Given the description of an element on the screen output the (x, y) to click on. 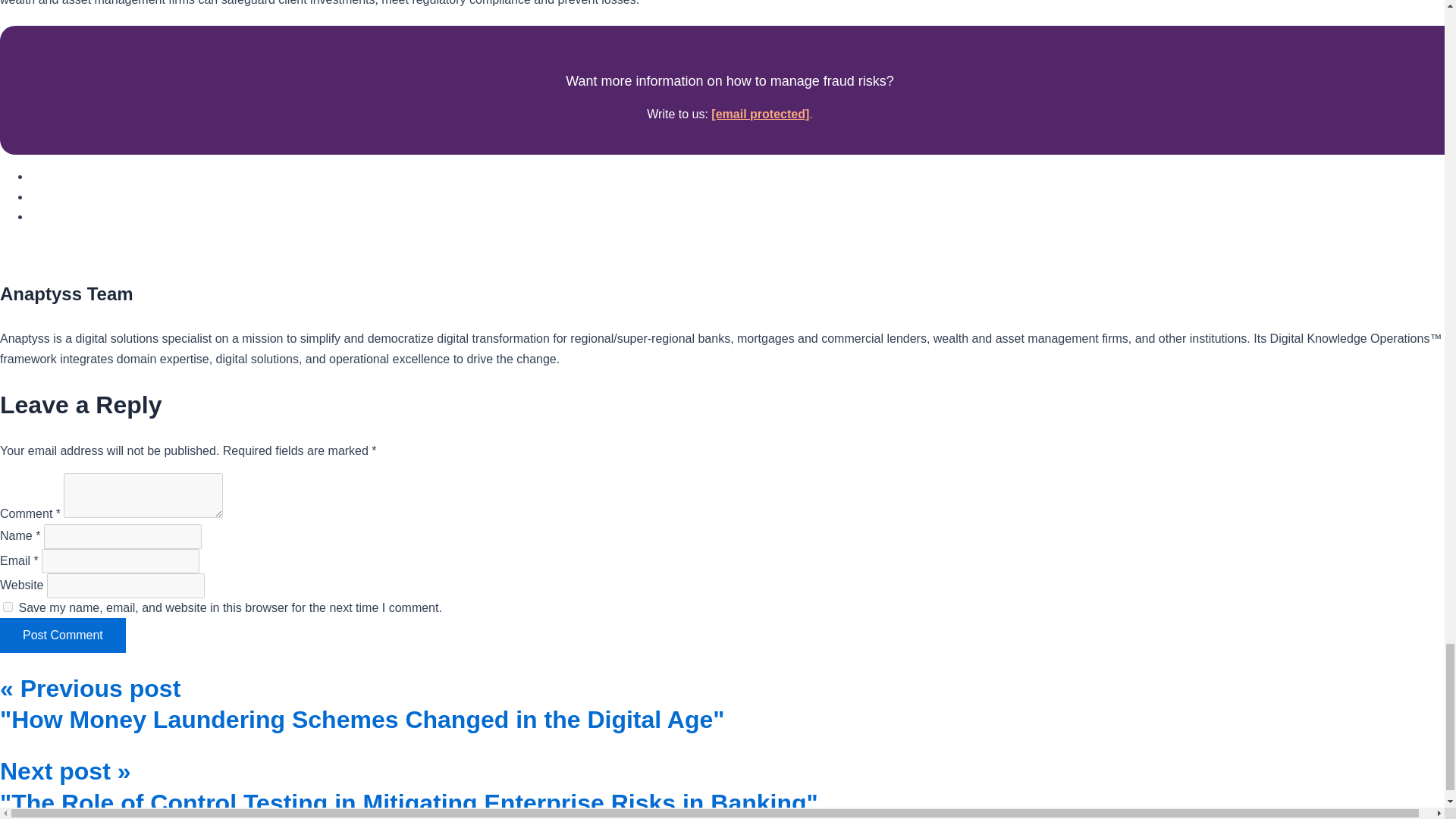
How Money Laundering Schemes Changed in the Digital Age (361, 703)
on (7, 606)
Post Comment (62, 635)
